Given the description of an element on the screen output the (x, y) to click on. 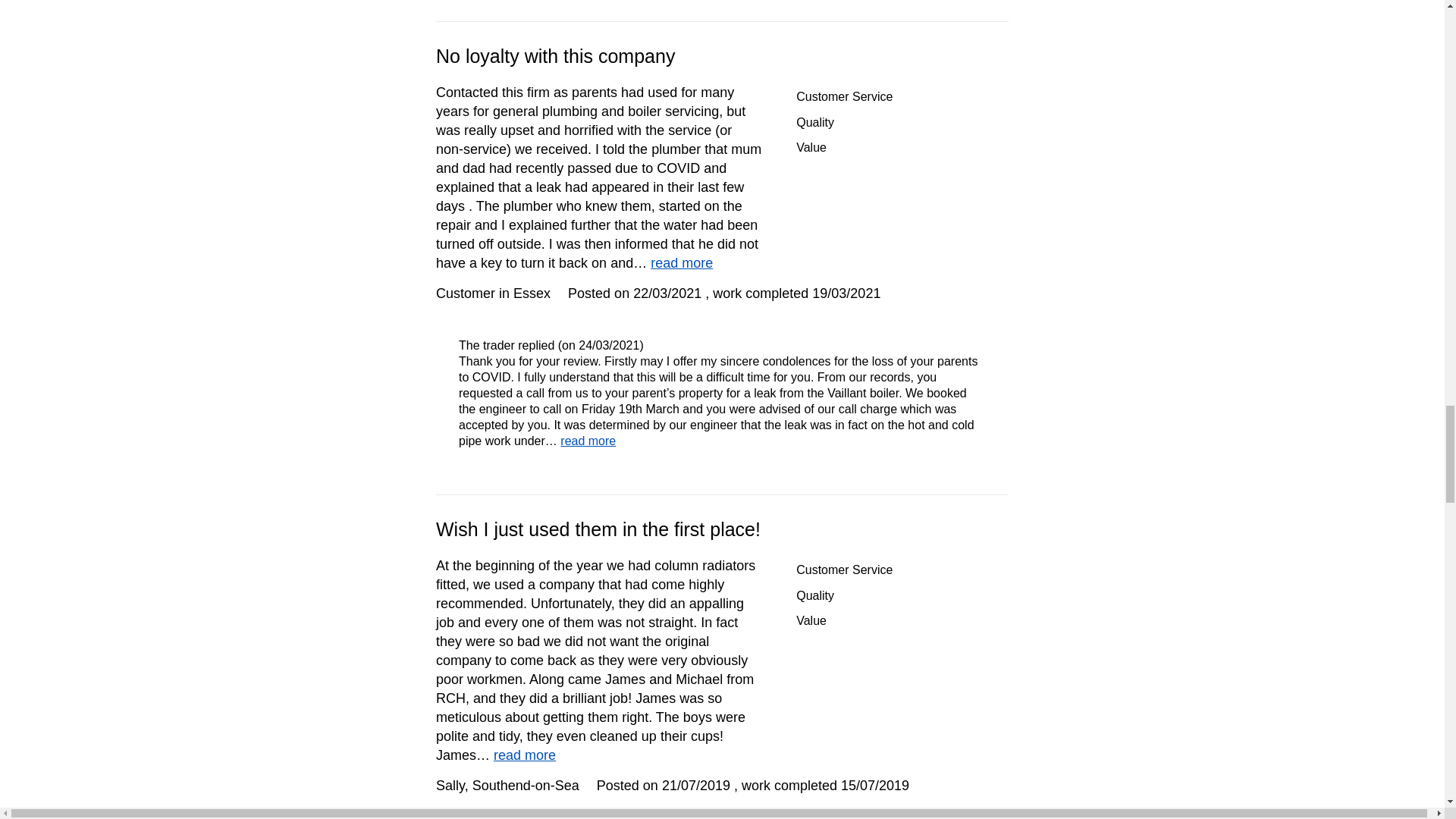
5 (957, 96)
